Given the description of an element on the screen output the (x, y) to click on. 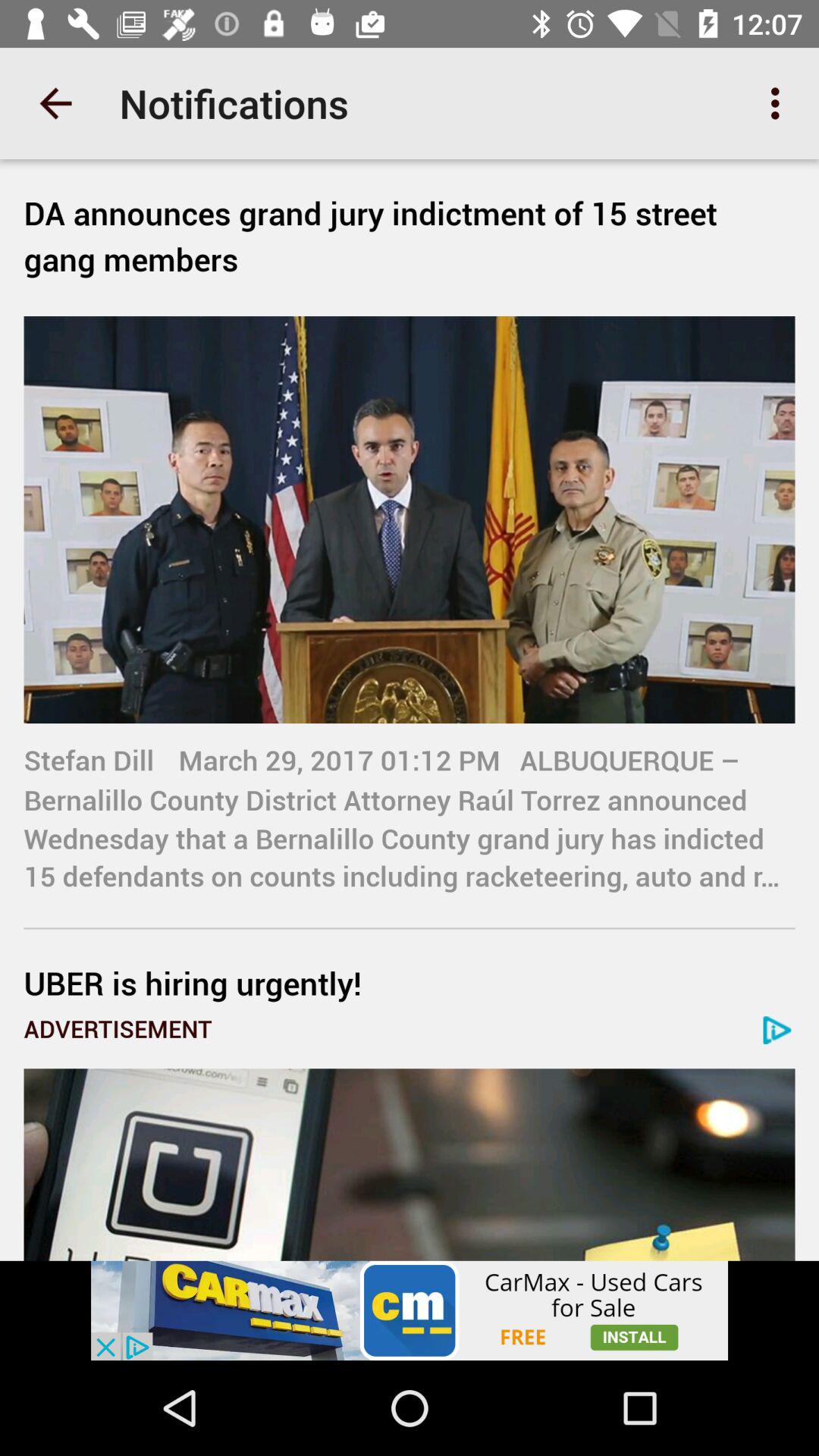
turn off the item above da announces grand icon (779, 103)
